Given the description of an element on the screen output the (x, y) to click on. 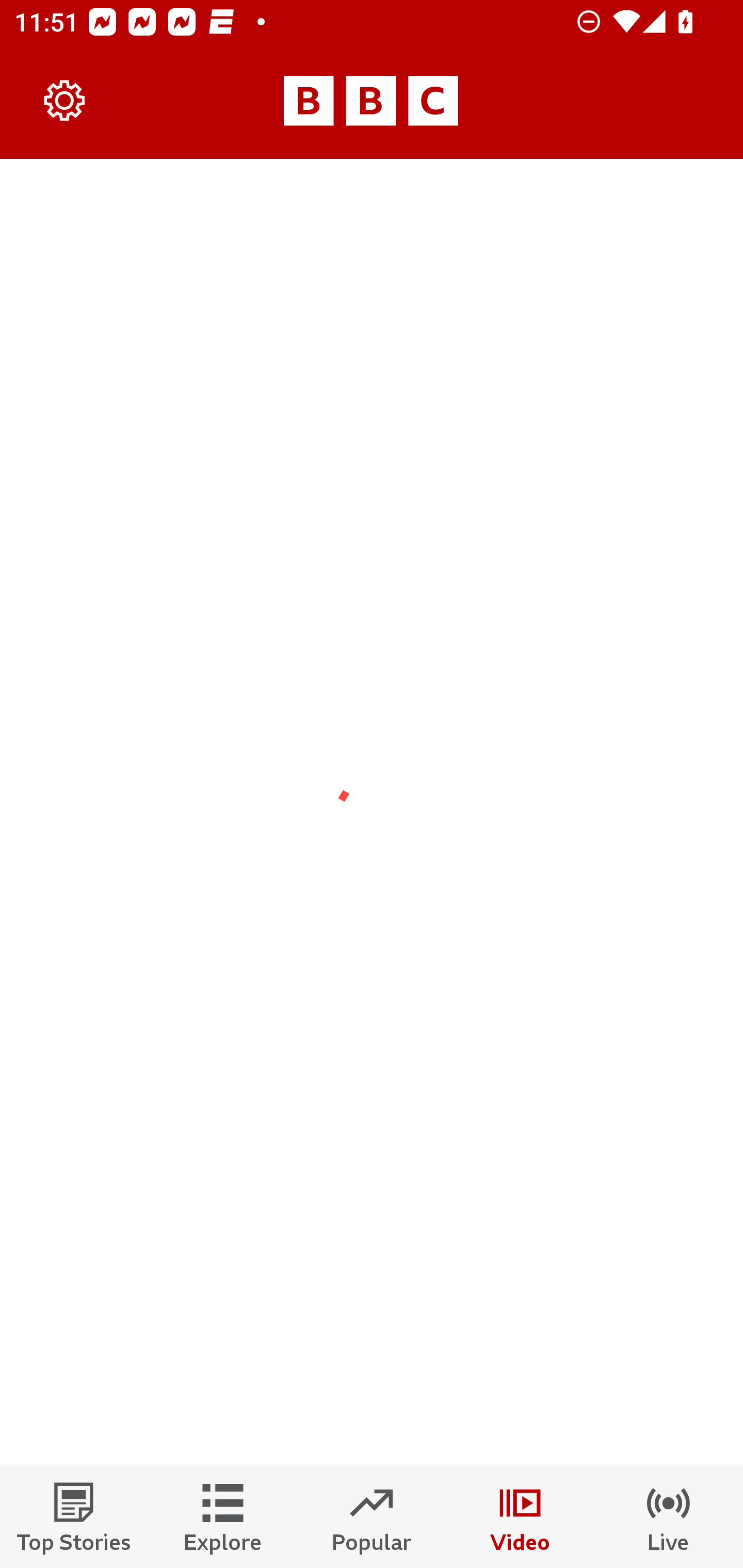
Settings (64, 100)
Top Stories (74, 1517)
Explore (222, 1517)
Popular (371, 1517)
Live (668, 1517)
